Given the description of an element on the screen output the (x, y) to click on. 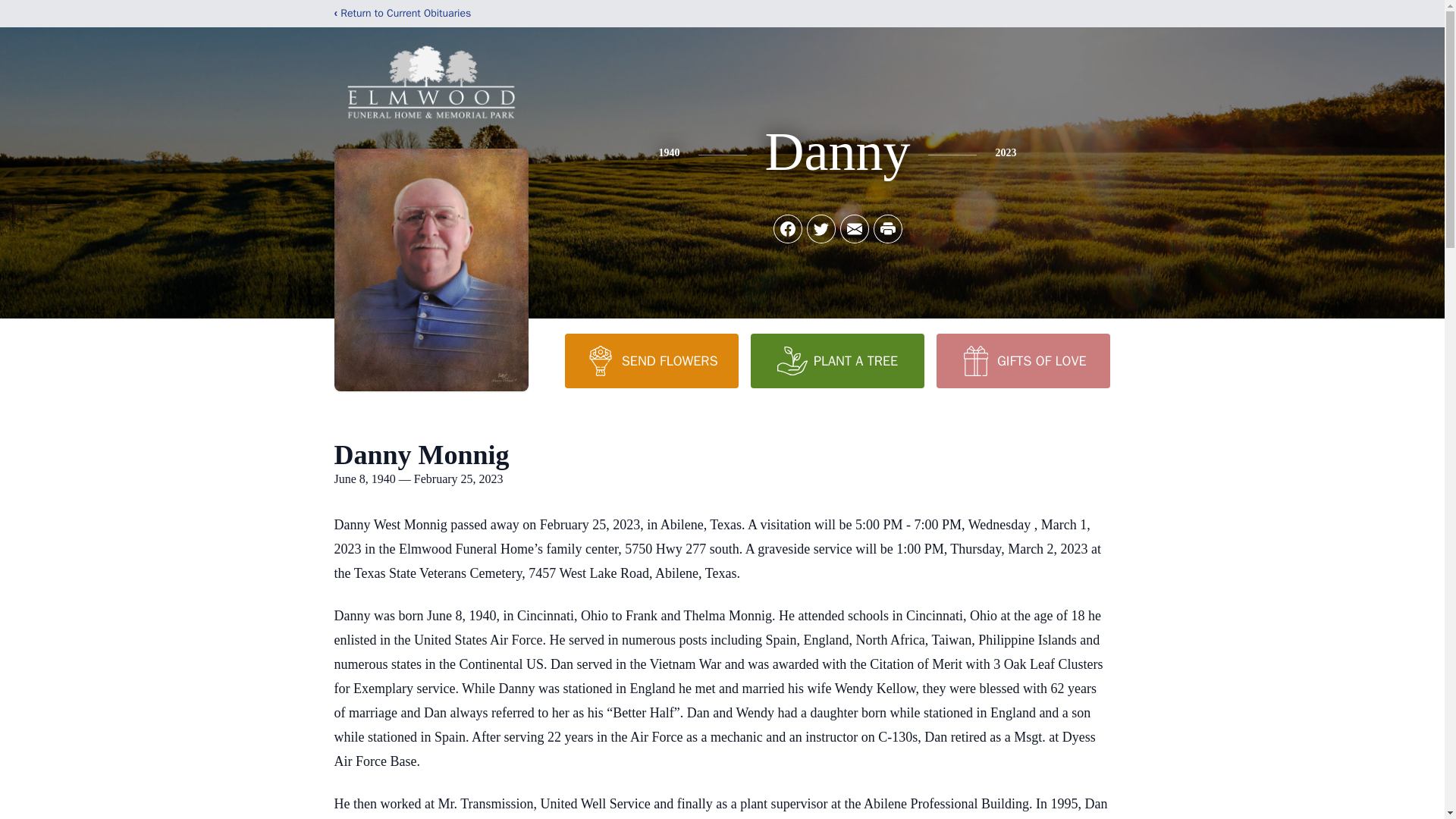
SEND FLOWERS (651, 360)
GIFTS OF LOVE (1022, 360)
PLANT A TREE (837, 360)
